Given the description of an element on the screen output the (x, y) to click on. 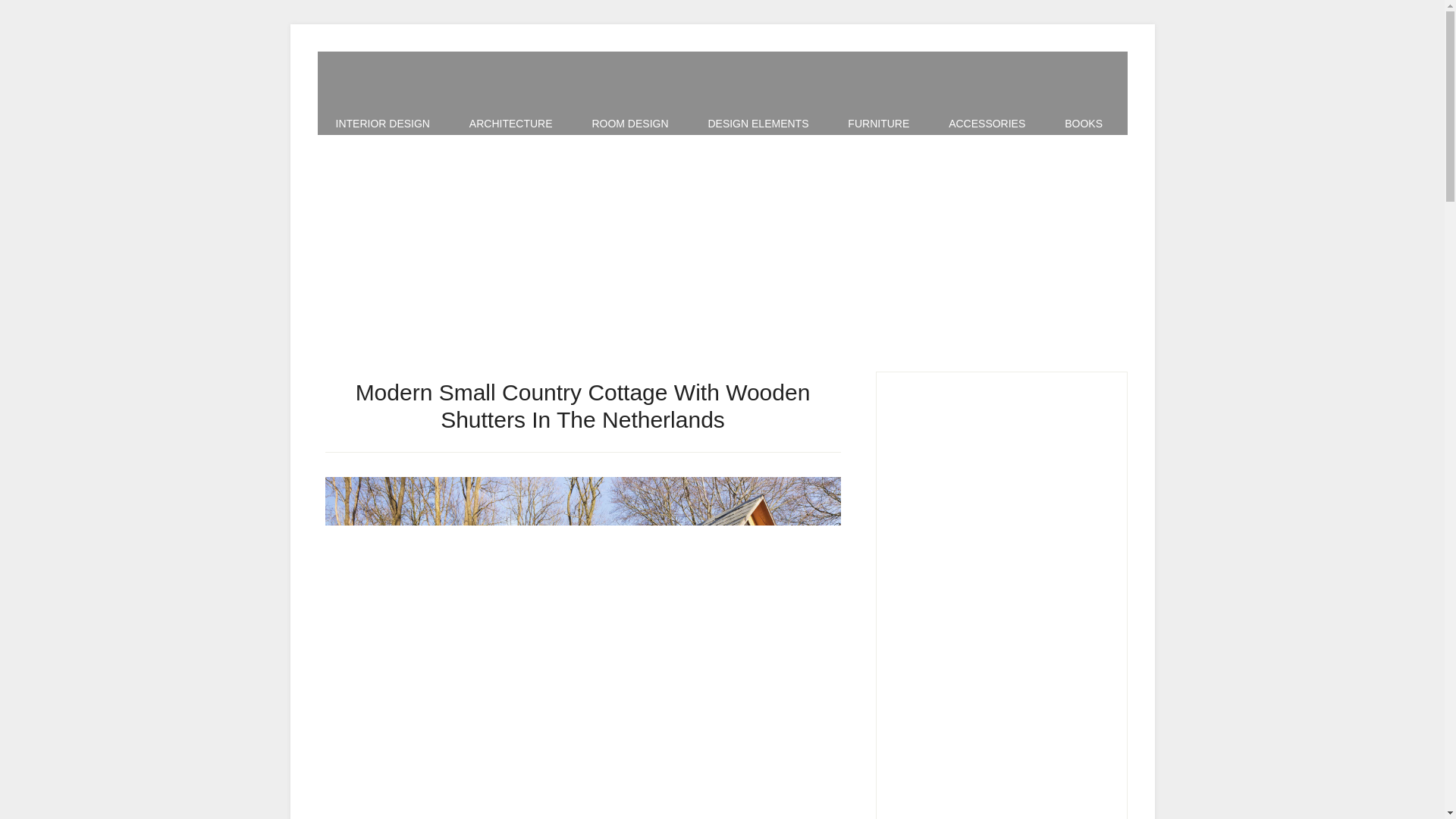
INTERIOR DESIGN (381, 123)
ARCHITECTURE (510, 123)
DESIGN ELEMENTS (757, 123)
ROOM DESIGN (629, 123)
